Given the description of an element on the screen output the (x, y) to click on. 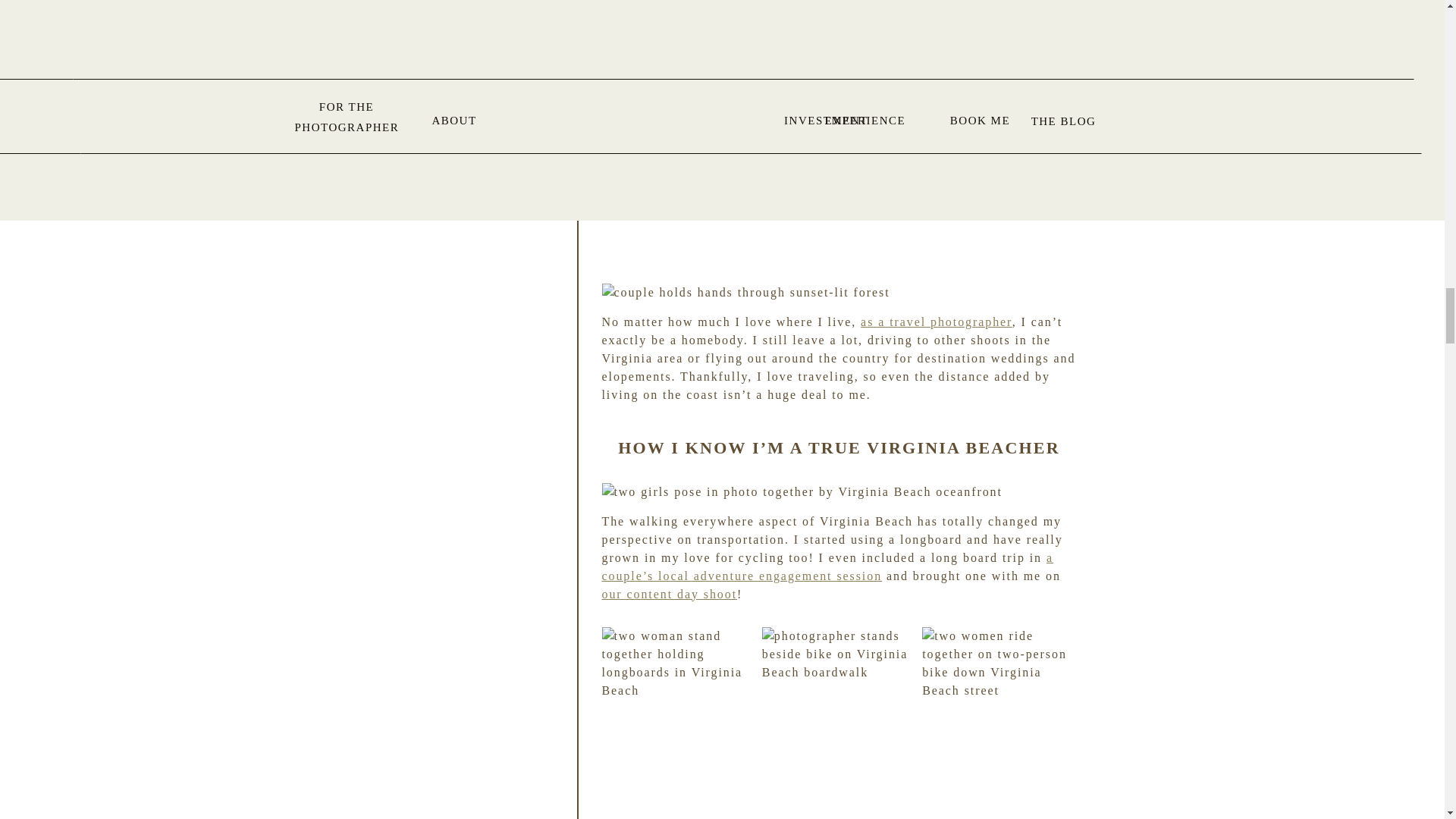
brought our content day to Virginia (833, 12)
our content day shoot (670, 593)
as a travel photographer (935, 321)
rain or cold (638, 3)
my co-host and I (902, 3)
